Given the description of an element on the screen output the (x, y) to click on. 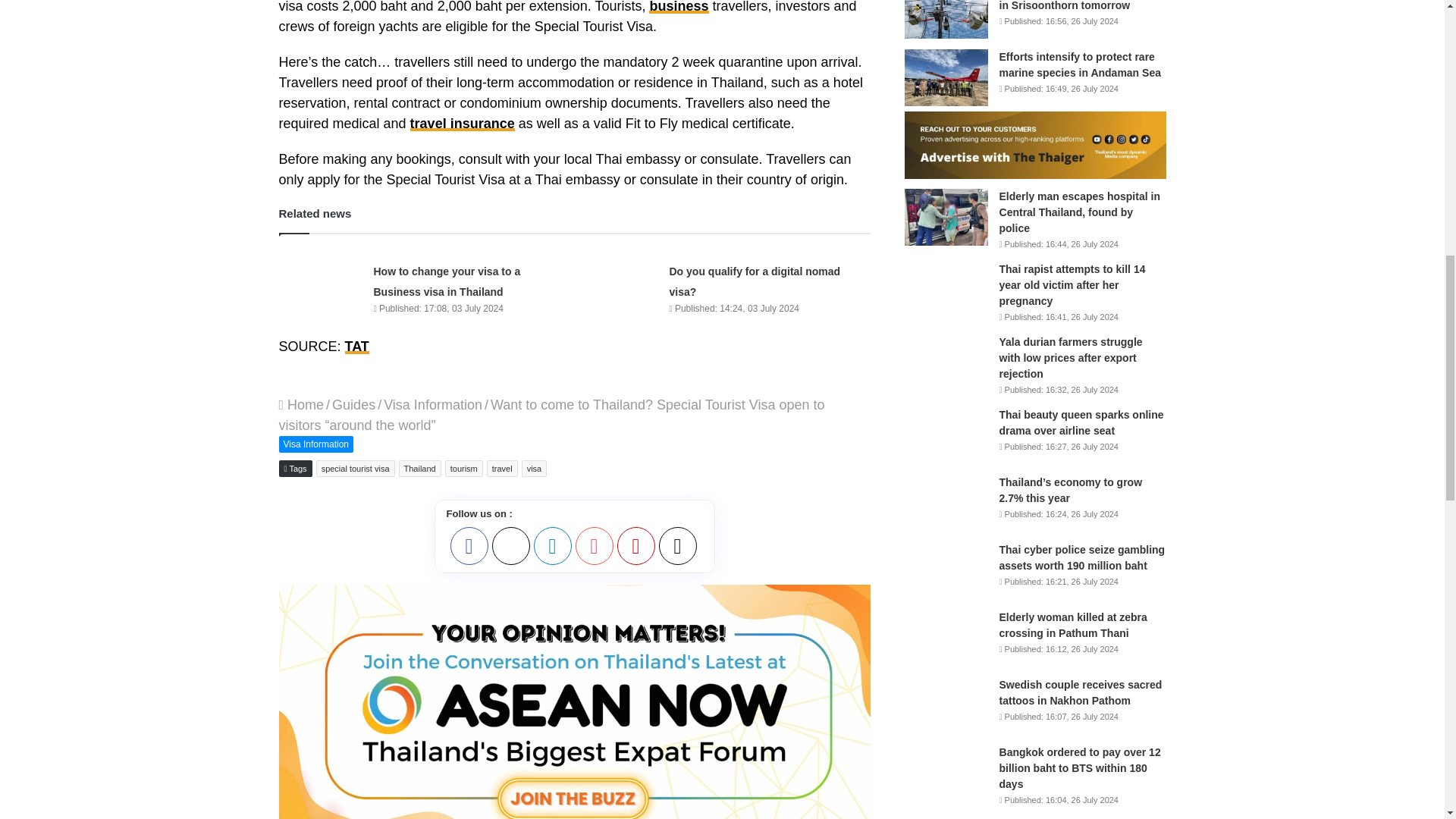
Business (678, 6)
Travel Insurance (462, 122)
